Given the description of an element on the screen output the (x, y) to click on. 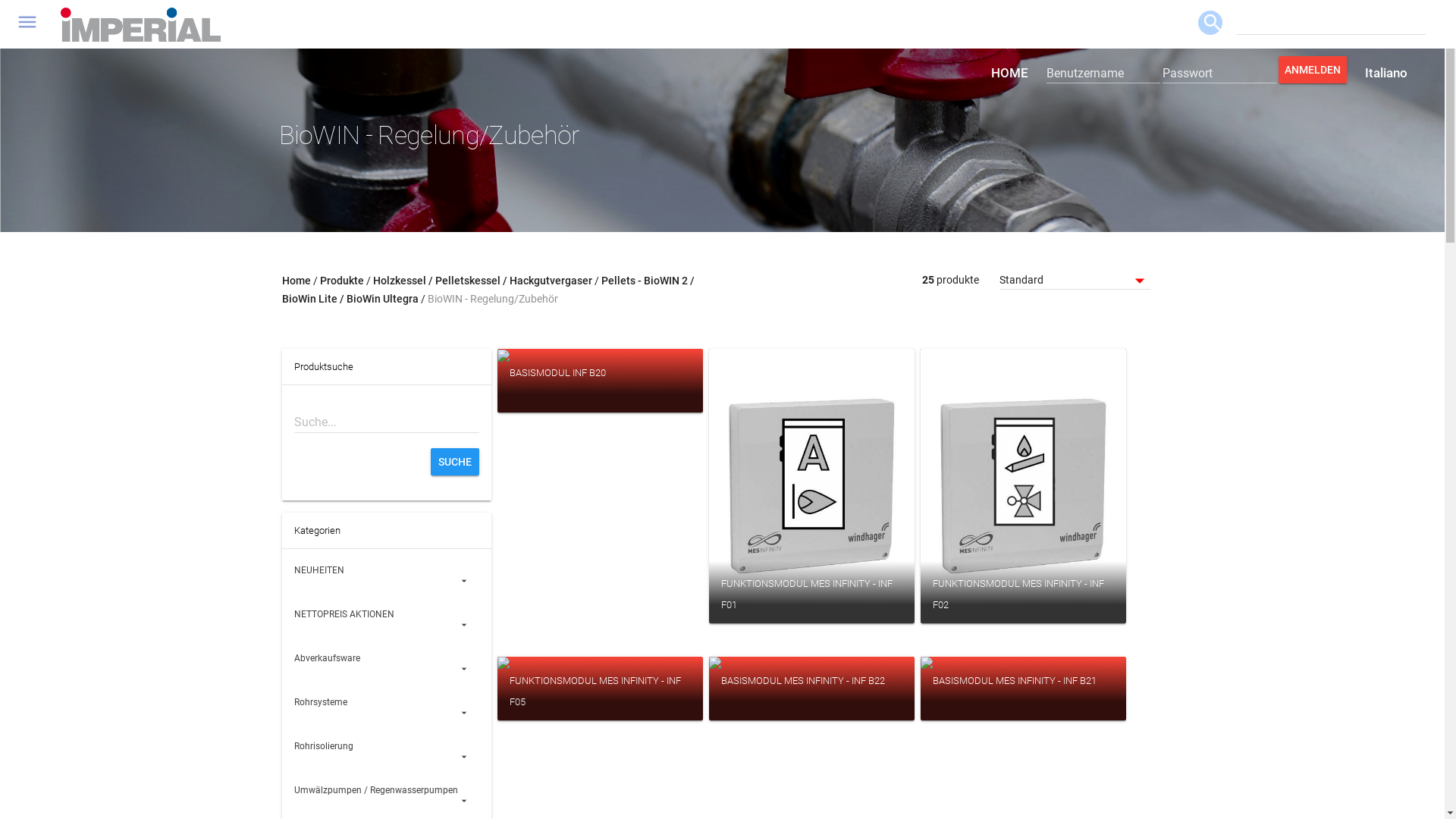
Home Element type: text (296, 280)
FUNKTIONSMODUL MES INFINITY - INF F01 Element type: text (811, 592)
Benutzername Element type: hover (1103, 72)
NETTOPREIS AKTIONEN
  Element type: text (387, 623)
HOME Element type: text (1009, 72)
BASISMODUL INF B20 Element type: text (599, 381)
search Element type: text (1210, 22)
Rohrisolierung
  Element type: text (387, 755)
Holzkessel / Pelletskessel / Hackgutvergaser Element type: text (482, 280)
Standard Element type: text (1075, 280)
Abverkaufsware
  Element type: text (387, 667)
Windhager FUNKTIONSMODUL MES INFINITY - INF F01 Element type: hover (811, 485)
Windhager BASISMODUL  INF B20 Element type: hover (595, 356)
SUCHE Element type: text (454, 461)
Windhager BASISMODUL MES INFINITY - INF B22 Element type: hover (811, 671)
FUNKTIONSMODUL MES INFINITY - INF F02 Element type: text (1022, 592)
BASISMODUL MES INFINITY - INF B21 Element type: text (1022, 689)
FUNKTIONSMODUL MES INFINITY - INF F05 Element type: text (599, 689)
Pellets - BioWIN 2 / BioWin Lite / BioWin Ultegra Element type: text (488, 289)
Produkte Element type: text (342, 280)
BASISMODUL MES INFINITY - INF B22 Element type: text (811, 689)
NEUHEITEN
  Element type: text (387, 579)
Rohrsysteme
  Element type: text (387, 711)
Windhager FUNKTIONSMODUL MES INFINITY - INF F02 Element type: hover (1023, 485)
Windhager FUNKTIONSMODUL MES INFINITY - INF F05 Element type: hover (599, 671)
Windhager BASISMODUL MES INFINITY - INF B21 Element type: hover (1023, 671)
Italiano Element type: text (1385, 72)
ANMELDEN Element type: text (1312, 69)
